Given the description of an element on the screen output the (x, y) to click on. 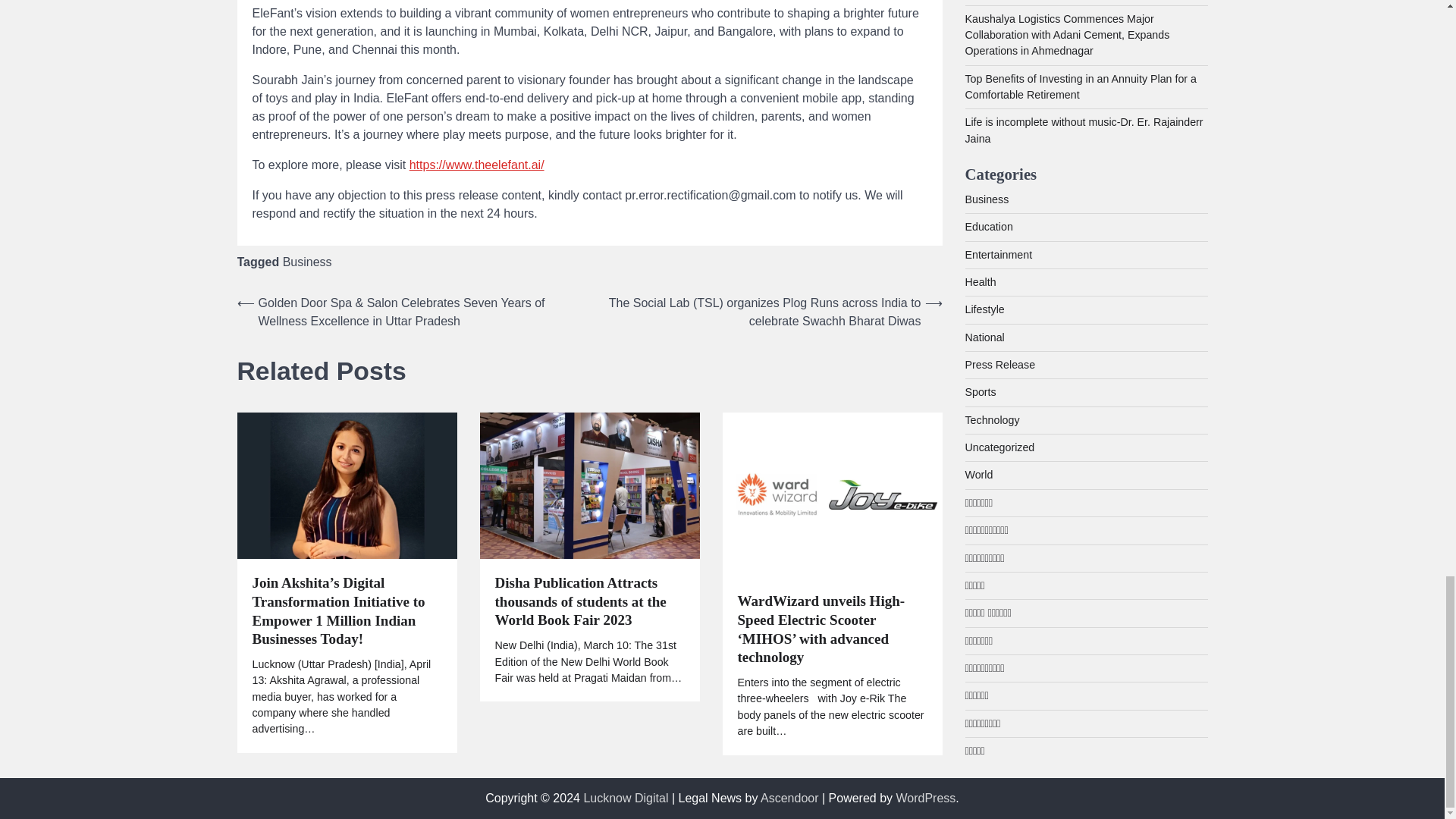
Business (306, 261)
